Given the description of an element on the screen output the (x, y) to click on. 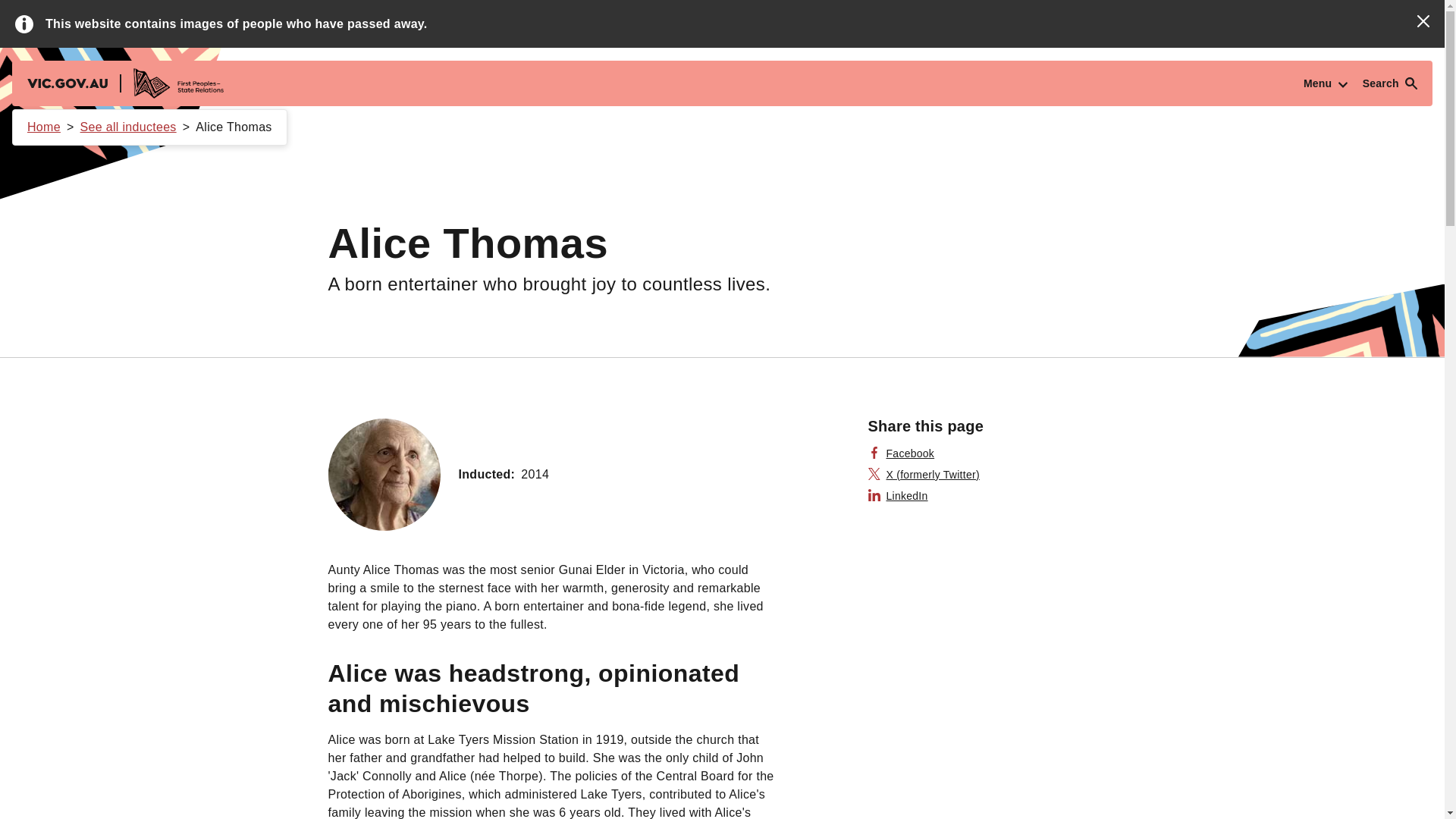
LinkedIn (897, 495)
Home (44, 126)
Facebook (900, 453)
See all inductees (128, 126)
